Given the description of an element on the screen output the (x, y) to click on. 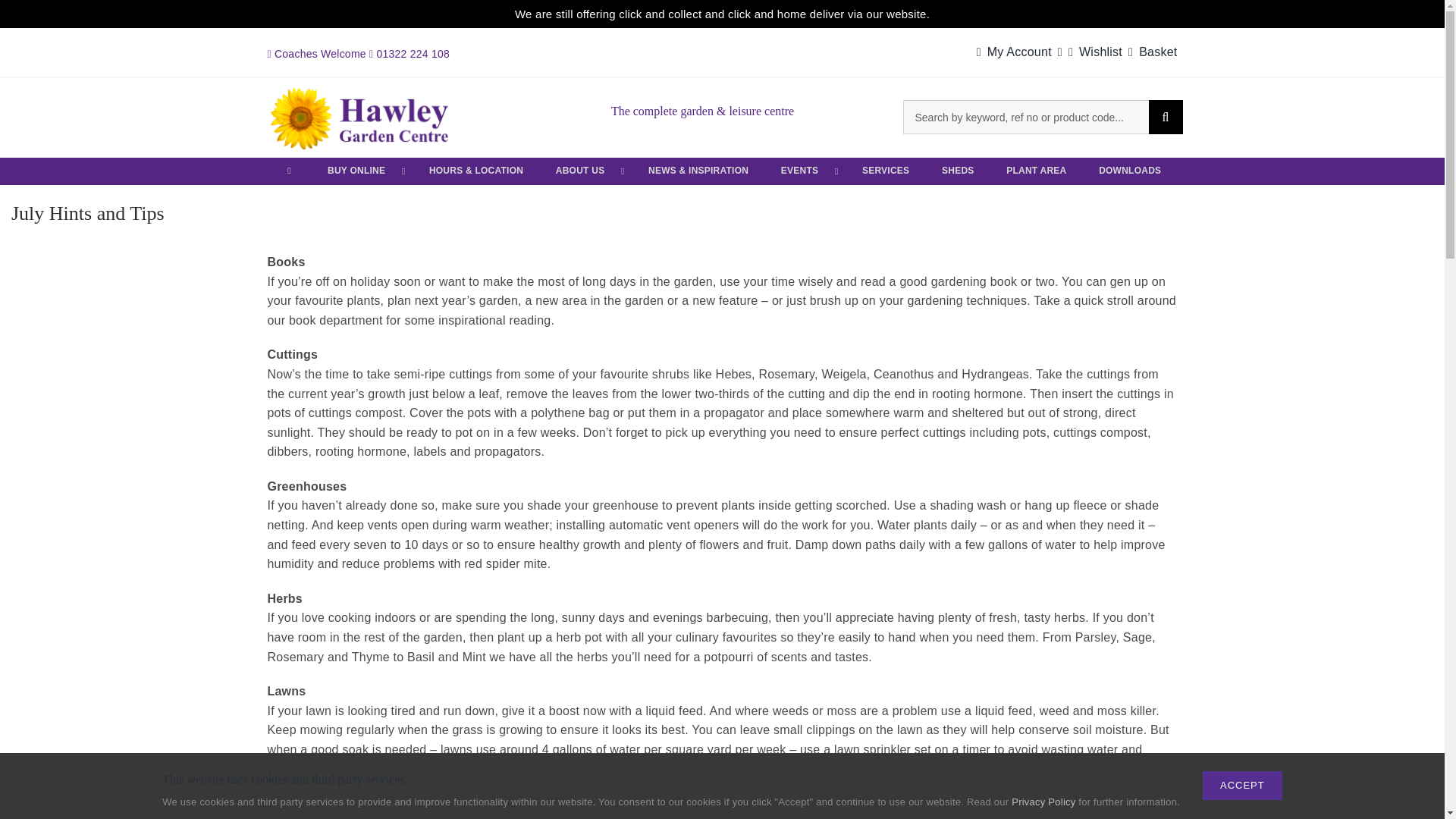
My Account (1016, 51)
Wishlist (1092, 51)
Basket (1149, 51)
